Given the description of an element on the screen output the (x, y) to click on. 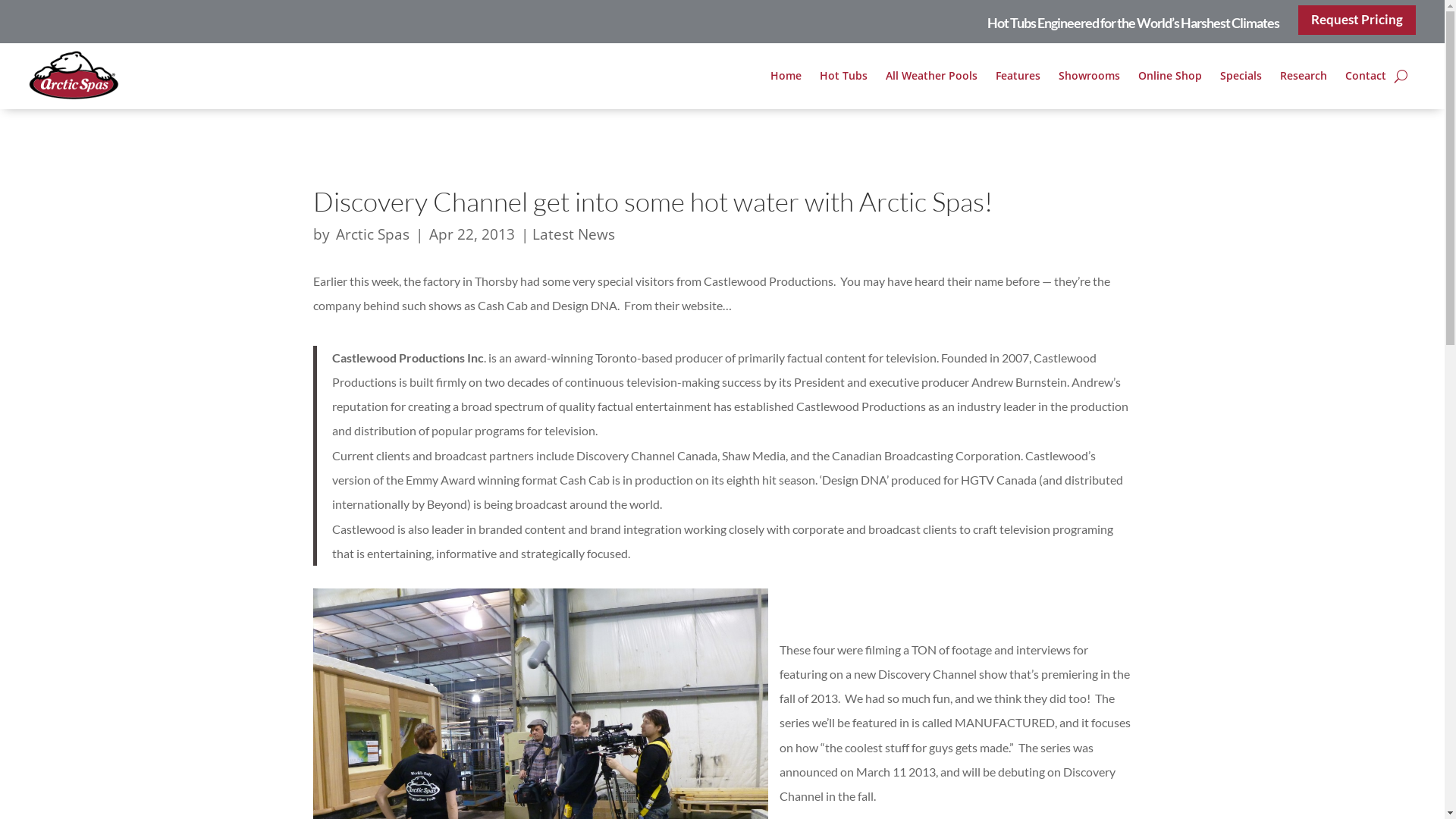
Hot Tubs Element type: text (842, 78)
Latest News Element type: text (573, 234)
Features Element type: text (1017, 78)
Research Element type: text (1302, 78)
Showrooms Element type: text (1088, 78)
Arctic Spas Element type: text (371, 234)
Specials Element type: text (1239, 78)
Home Element type: text (784, 78)
arcticspas-Logo-Red-300-3-1-1 Element type: hover (73, 75)
Online Shop Element type: text (1168, 78)
All Weather Pools Element type: text (930, 78)
Request Pricing Element type: text (1356, 19)
Contact Element type: text (1364, 78)
